Given the description of an element on the screen output the (x, y) to click on. 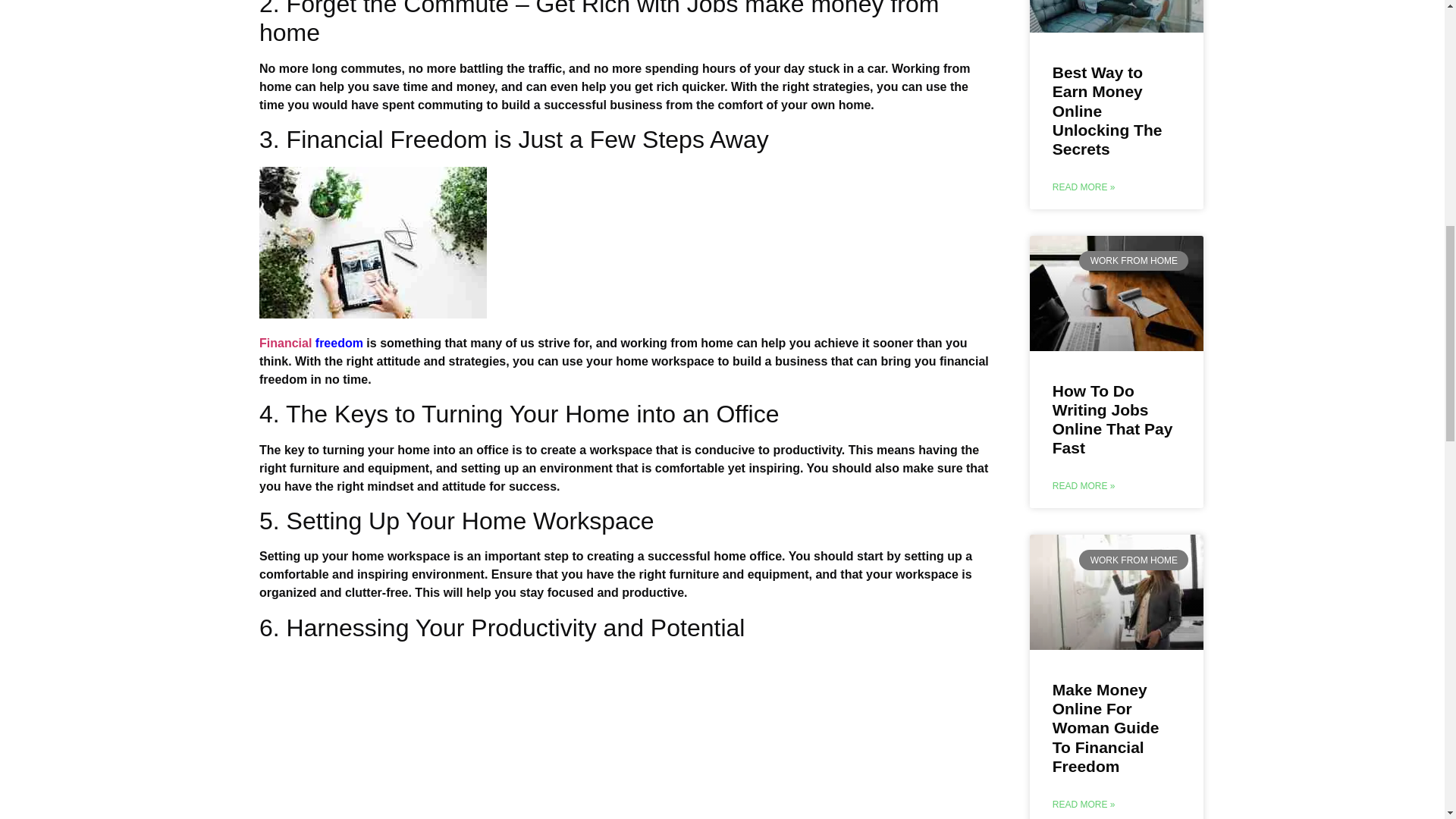
Best Way to Earn Money Online Unlocking The Secrets (1106, 110)
Make Money Online For Woman Guide To Financial Freedom (1105, 727)
Financial freedom (310, 342)
How To Do Writing Jobs Online That Pay Fast (1112, 419)
